Given the description of an element on the screen output the (x, y) to click on. 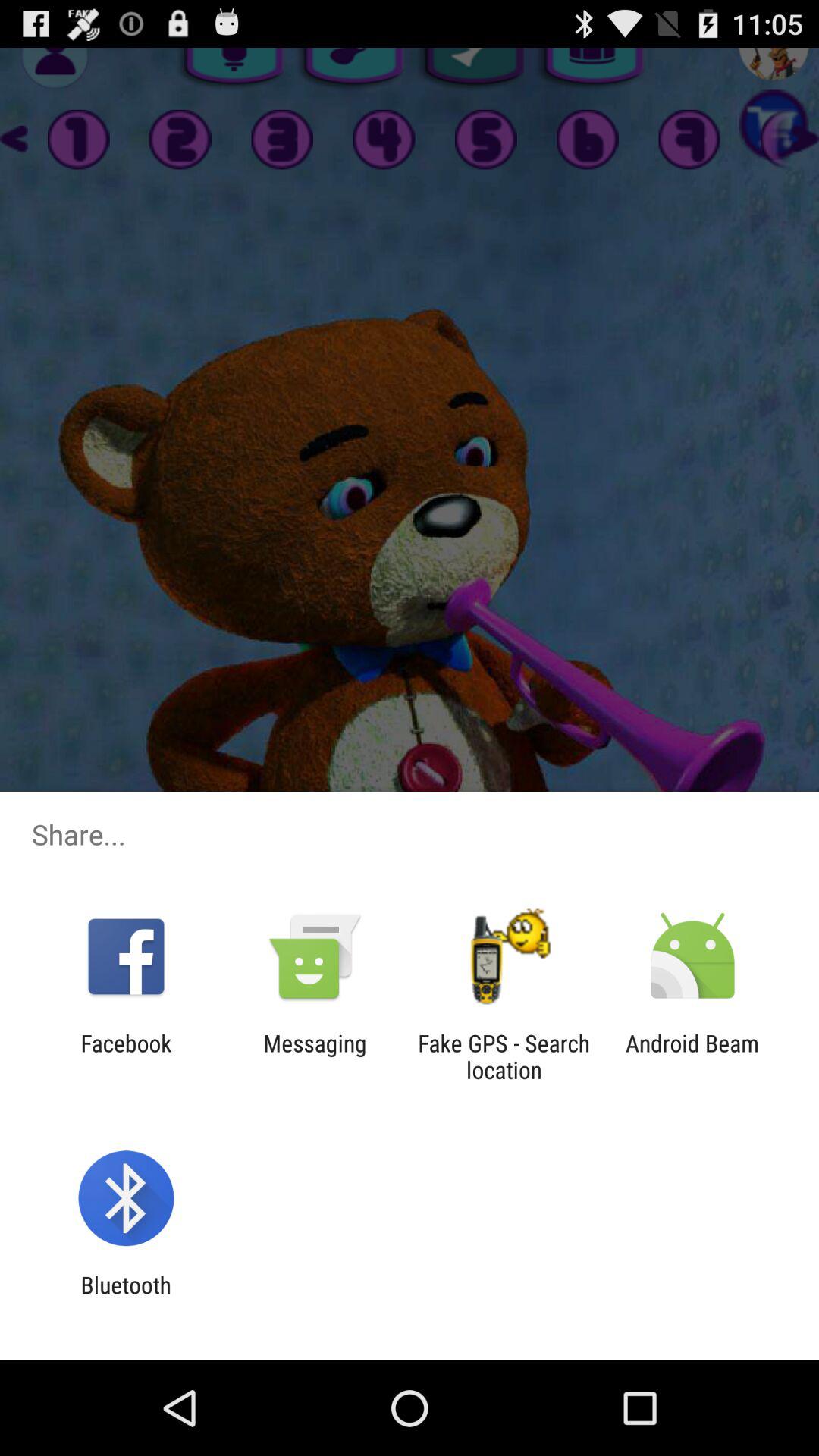
press the icon next to the facebook (314, 1056)
